Given the description of an element on the screen output the (x, y) to click on. 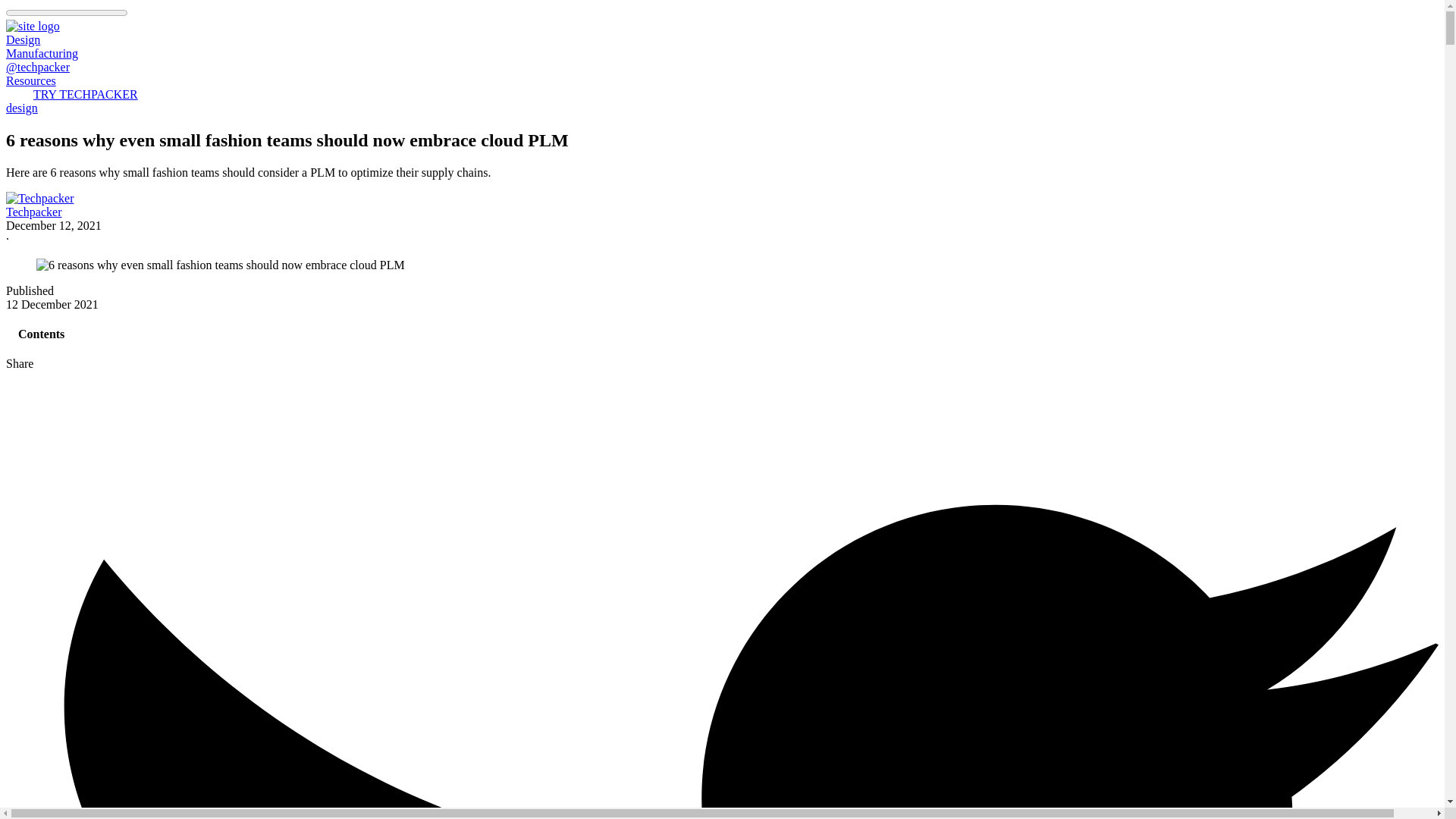
TRY TECHPACKER (85, 93)
Design (22, 39)
Manufacturing (41, 52)
Resources (30, 80)
Techpacker (33, 211)
design (21, 107)
